Given the description of an element on the screen output the (x, y) to click on. 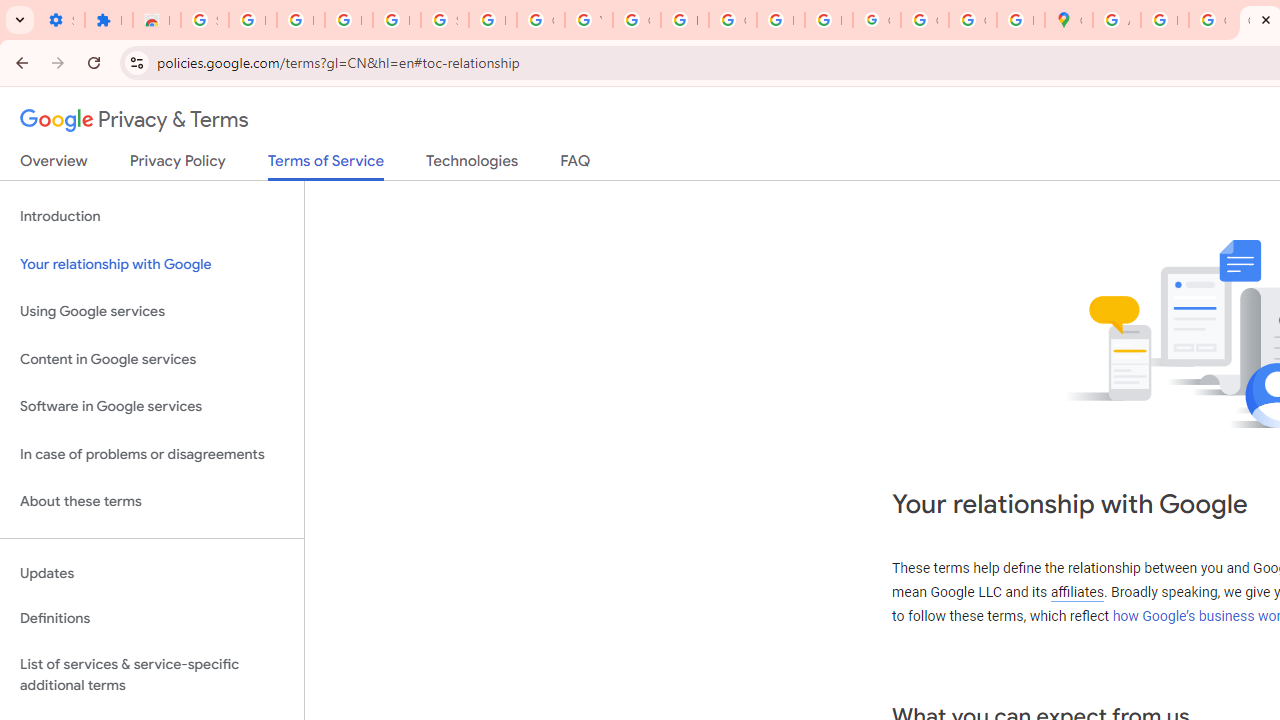
Software in Google services (152, 407)
Reviews: Helix Fruit Jump Arcade Game (156, 20)
